Given the description of an element on the screen output the (x, y) to click on. 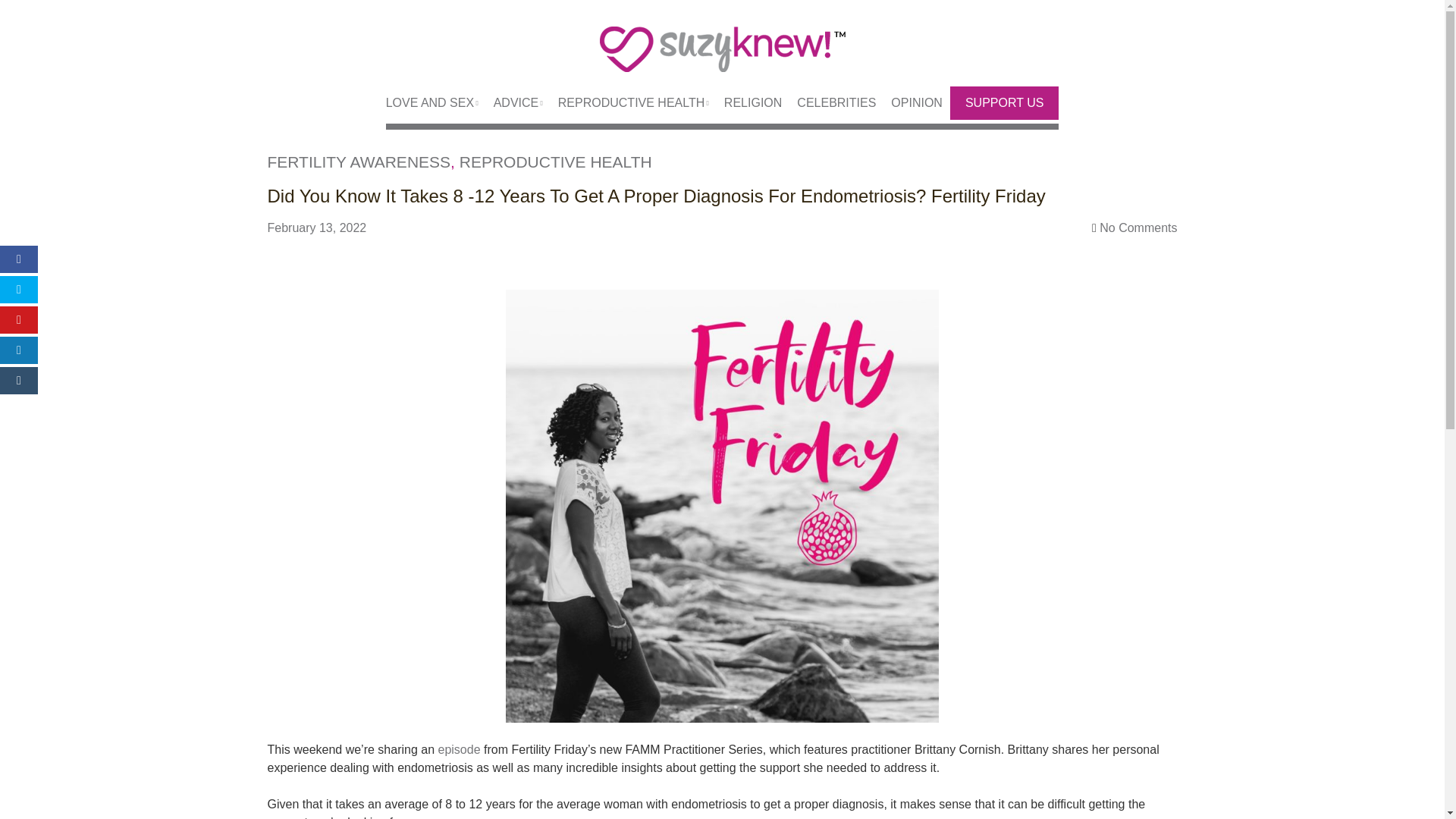
REPRODUCTIVE HEALTH (626, 103)
REPRODUCTIVE HEALTH (556, 161)
SuzyKnew (721, 58)
No Comments (1137, 227)
episode (459, 748)
ADVICE (511, 103)
SUPPORT US (1004, 102)
CELEBRITIES (828, 103)
FERTILITY AWARENESS (357, 161)
OPINION (909, 103)
